Given the description of an element on the screen output the (x, y) to click on. 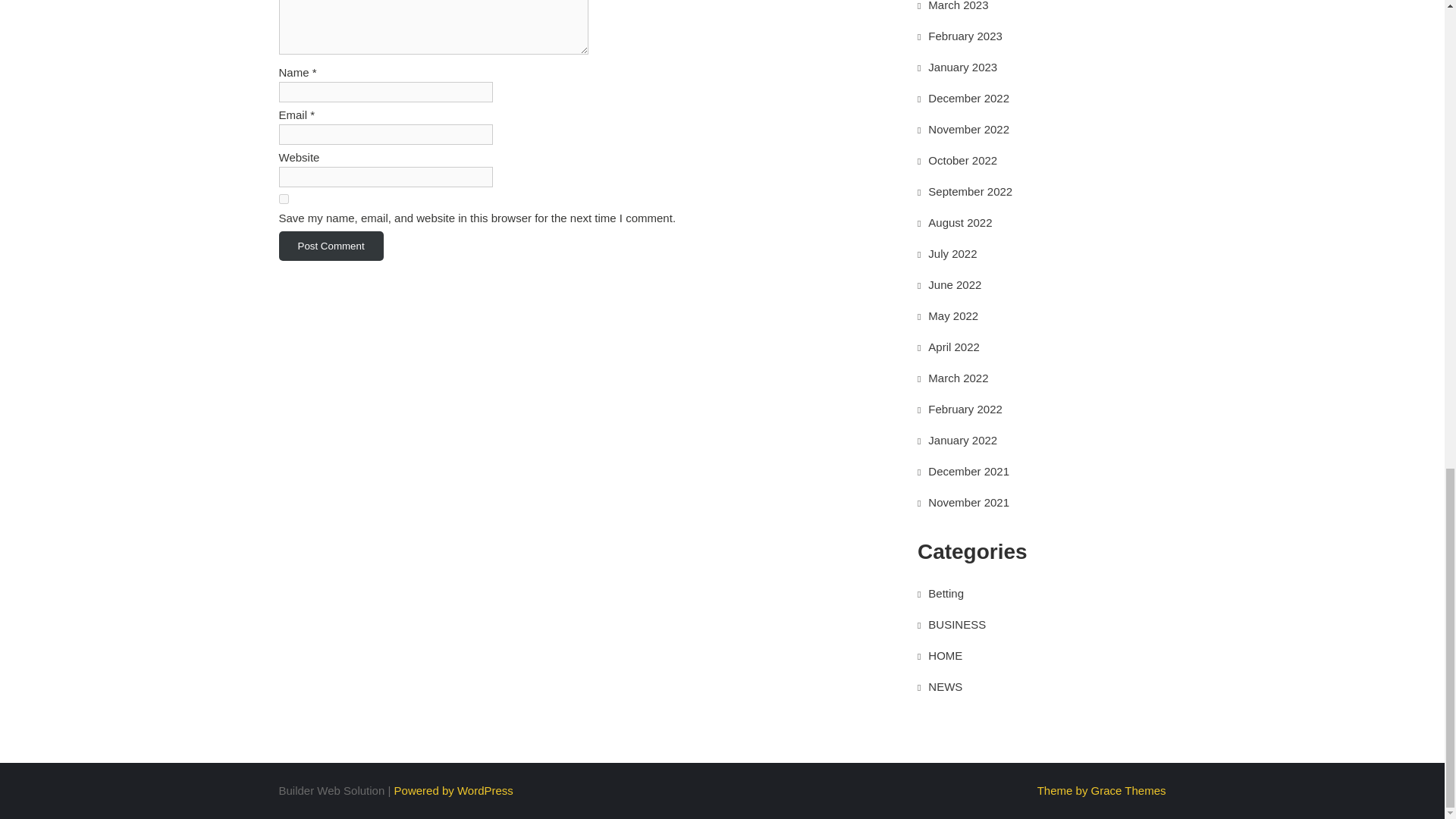
Post Comment (331, 245)
yes (283, 198)
Post Comment (331, 245)
